Given the description of an element on the screen output the (x, y) to click on. 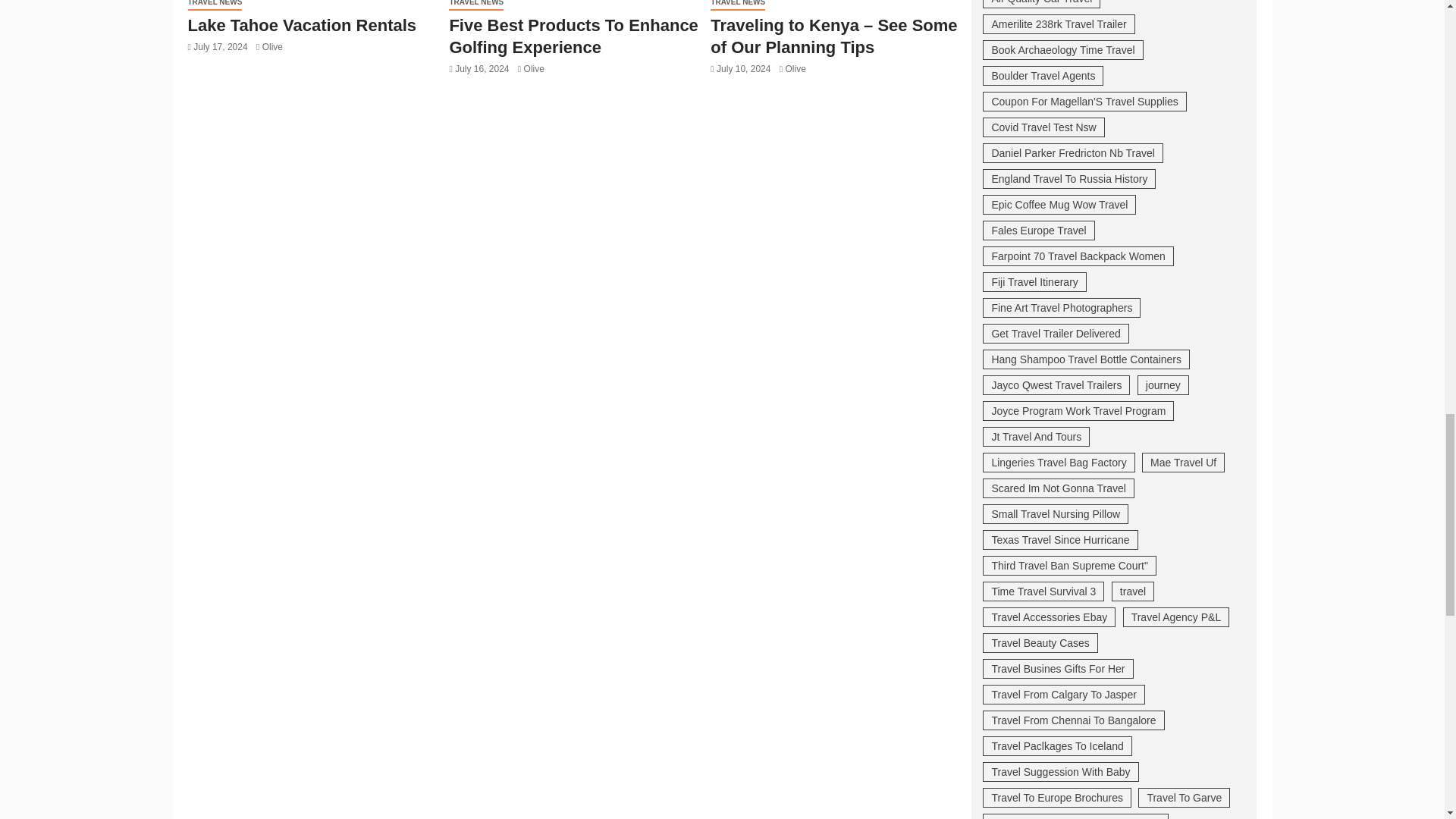
Lake Tahoe Vacation Rentals (301, 25)
TRAVEL NEWS (215, 5)
